Given the description of an element on the screen output the (x, y) to click on. 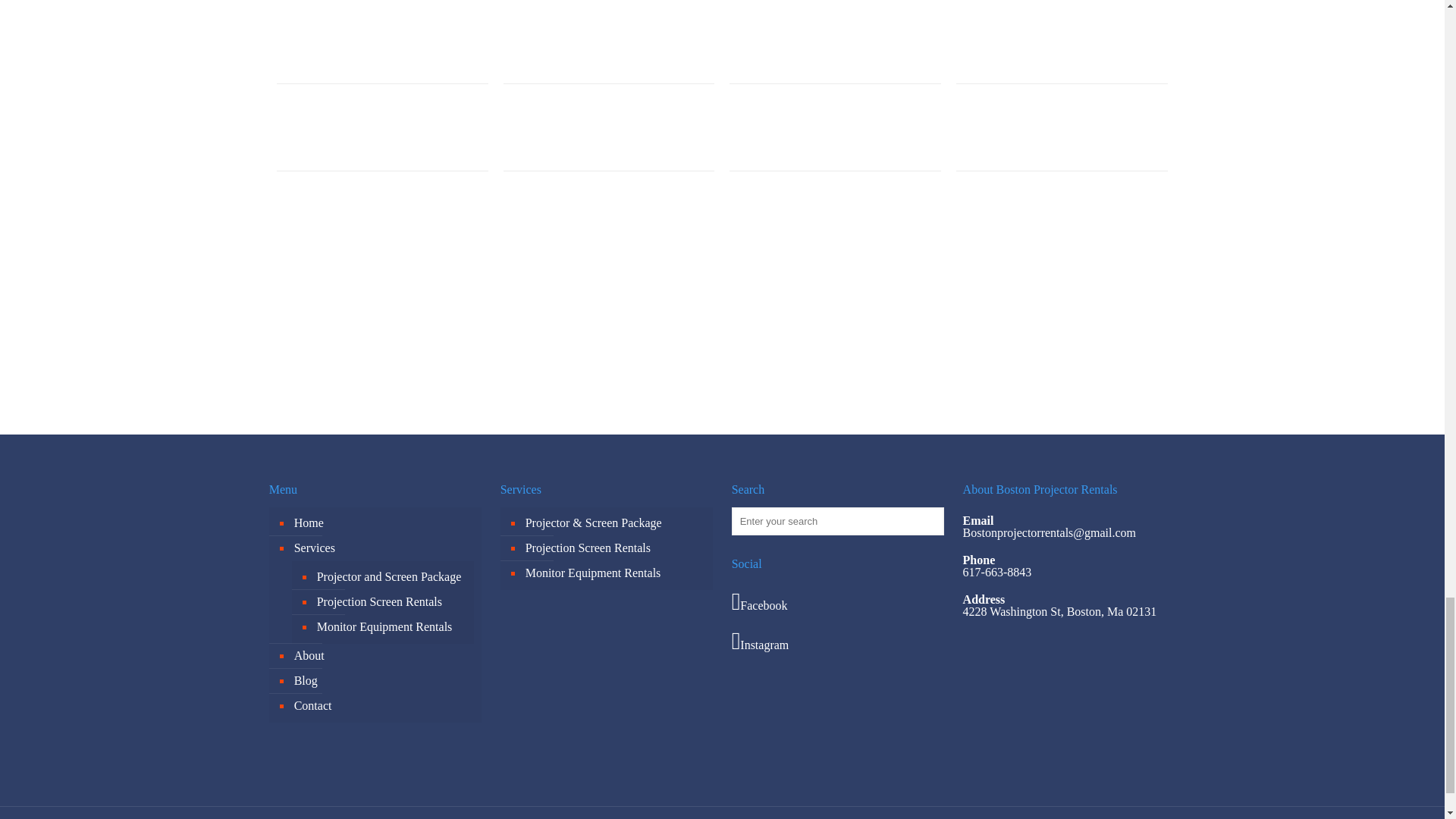
About (383, 656)
Visit Boston Projector Rentals on Facebook (838, 600)
Services (383, 548)
Projection Screen Rentals (390, 602)
Monitor Equipment Rentals (390, 627)
Visit Boston Projector Rentals on Instagram (838, 640)
Home (383, 523)
Projection Screen Rentals (614, 548)
Monitor Equipment Rentals (614, 573)
Projector and Screen Package (390, 577)
Blog (383, 681)
Contact (383, 706)
